Given the description of an element on the screen output the (x, y) to click on. 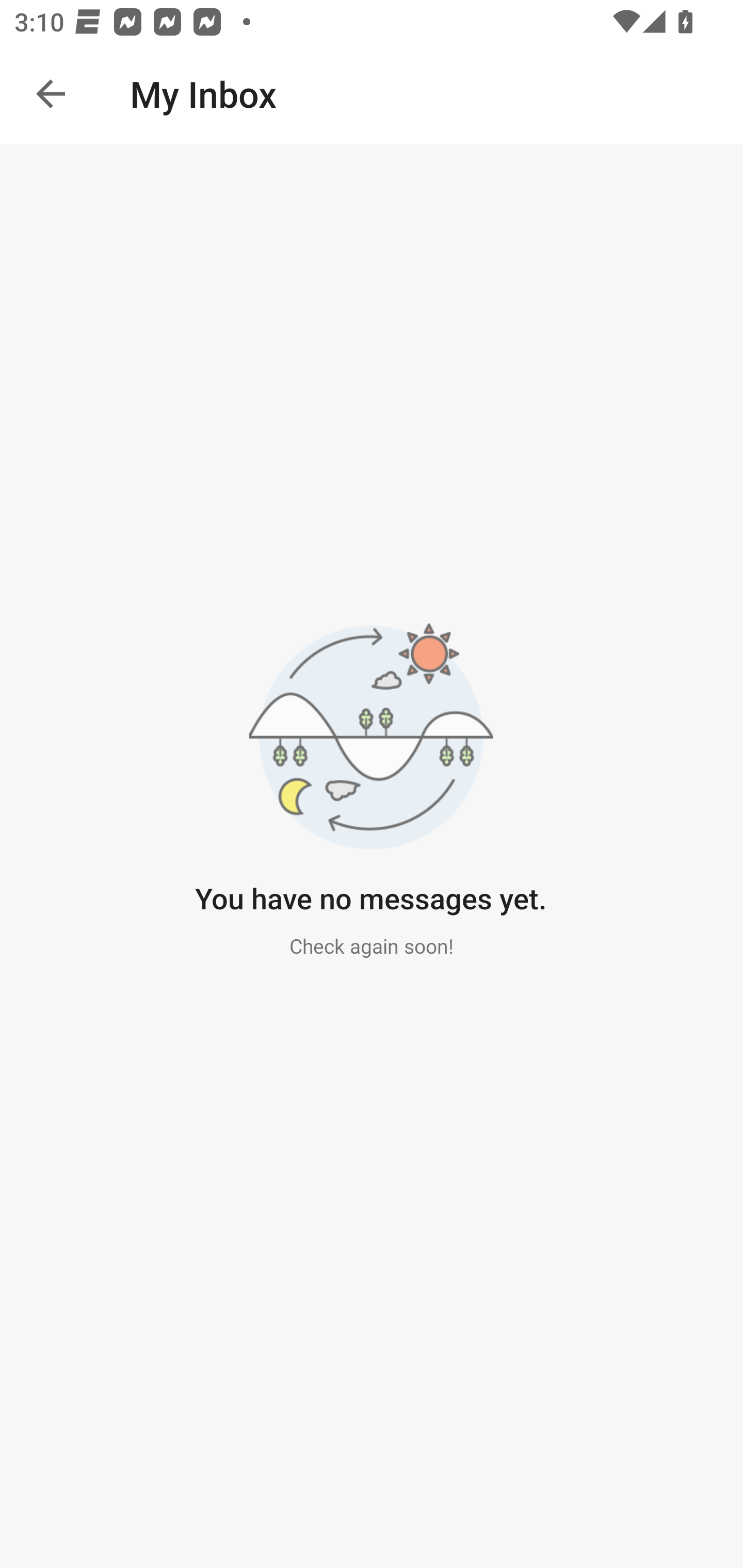
Navigate up (50, 93)
